Given the description of an element on the screen output the (x, y) to click on. 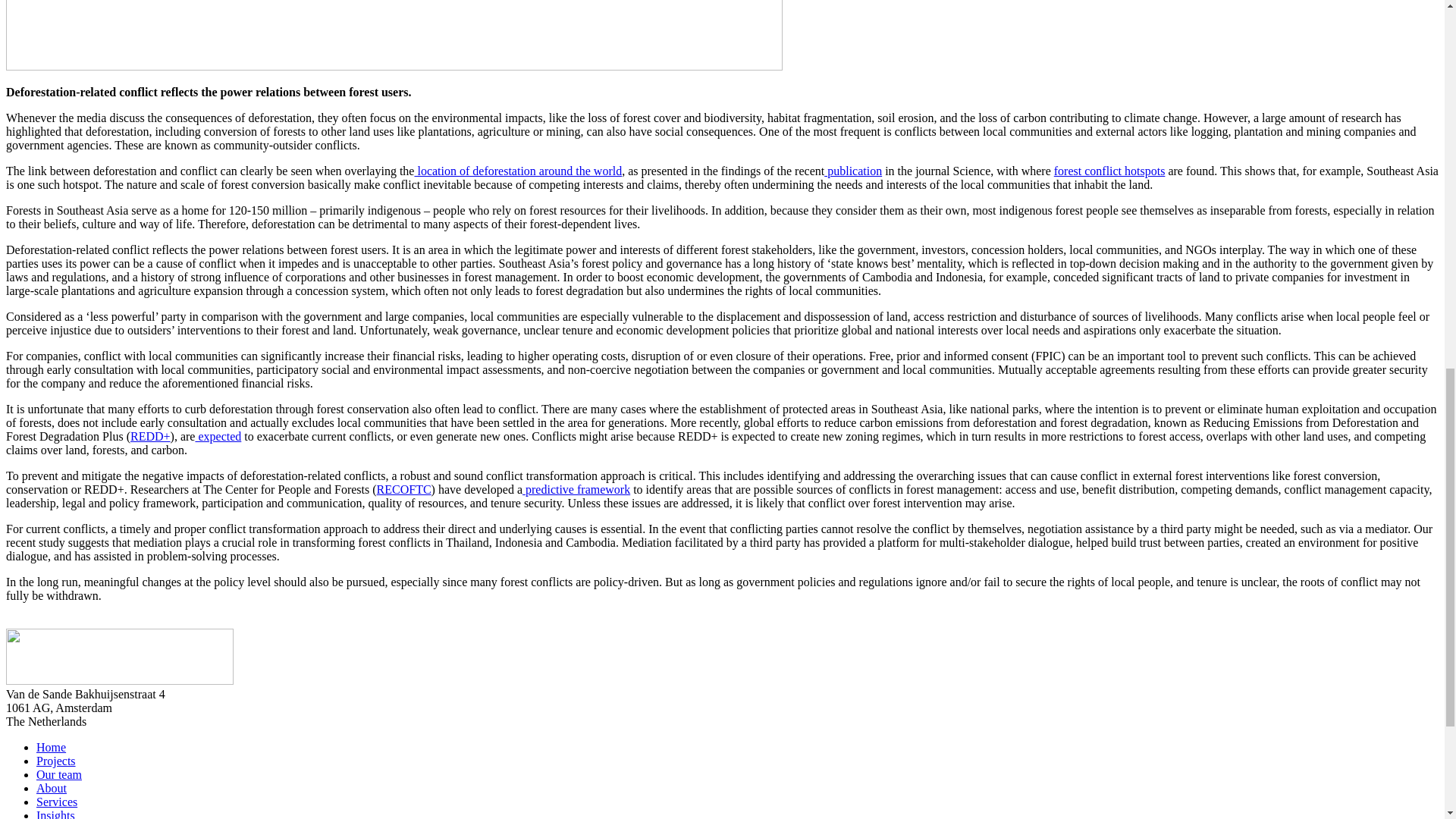
Services (56, 801)
expected (218, 436)
RECOFTC (403, 489)
Projects (55, 760)
Insights (55, 814)
About (51, 788)
Our team (58, 774)
predictive framework (576, 489)
forest conflict hotspots (1110, 170)
location of deforestation around the world (517, 170)
